Given the description of an element on the screen output the (x, y) to click on. 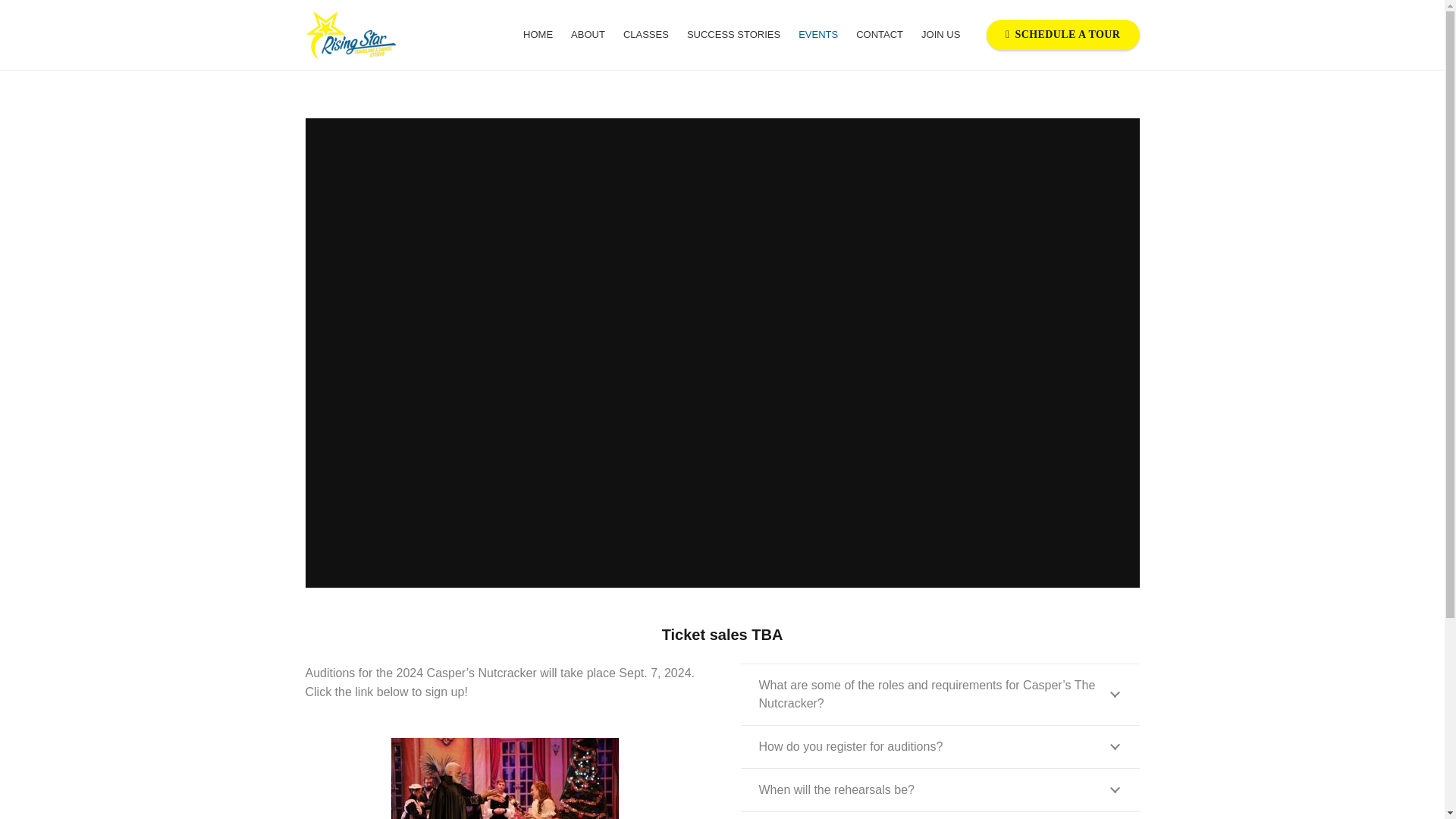
SCHEDULE A TOUR (1063, 34)
What are the Fees? (938, 815)
CLASSES (646, 34)
How do you register for auditions? (938, 746)
When will the rehearsals be? (938, 790)
SUCCESS STORIES (733, 34)
CONTACT (879, 34)
